Given the description of an element on the screen output the (x, y) to click on. 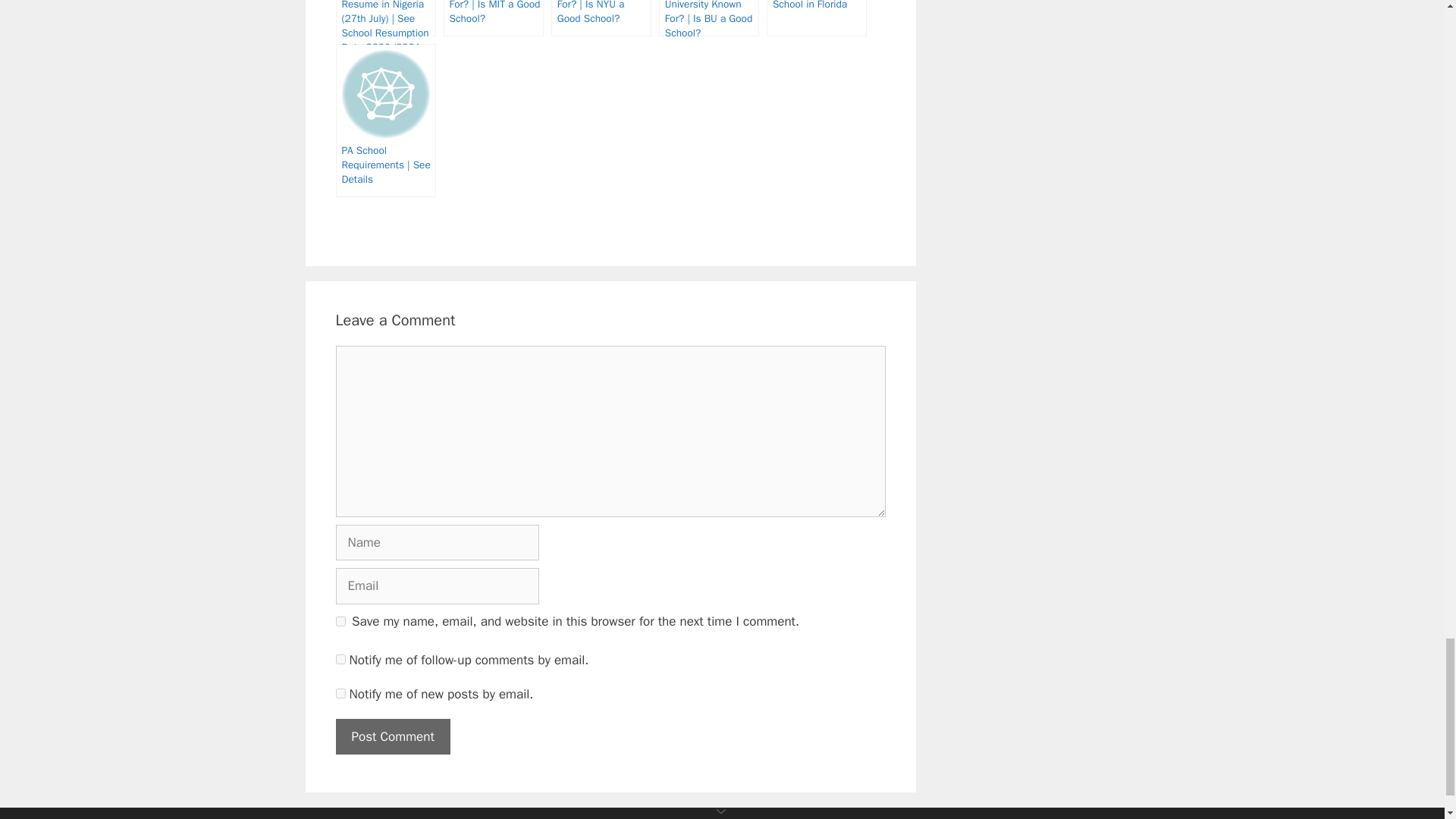
yes (339, 621)
subscribe (339, 693)
subscribe (339, 659)
Post Comment (391, 737)
